Given the description of an element on the screen output the (x, y) to click on. 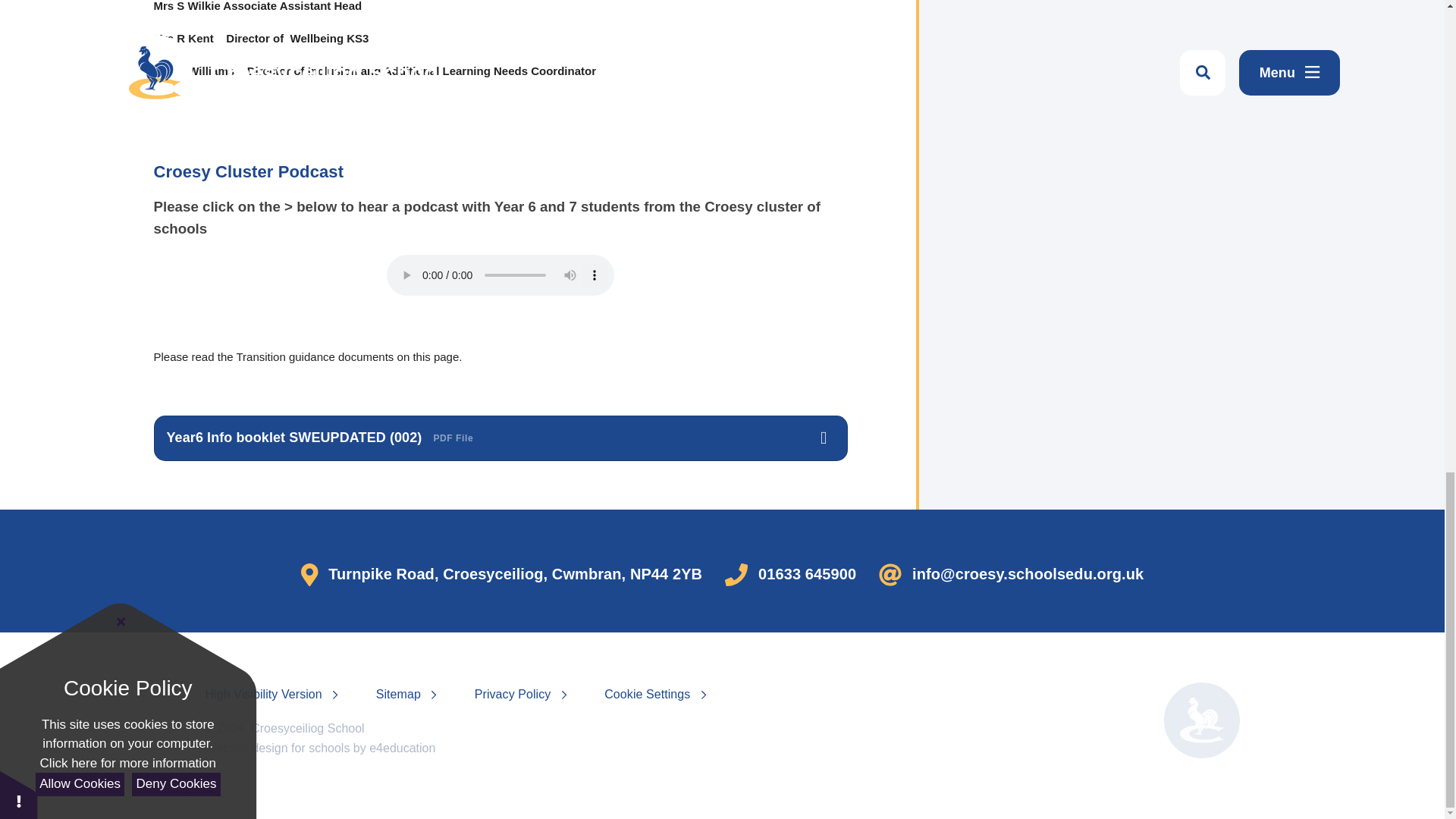
Cookie Settings (647, 694)
